Given the description of an element on the screen output the (x, y) to click on. 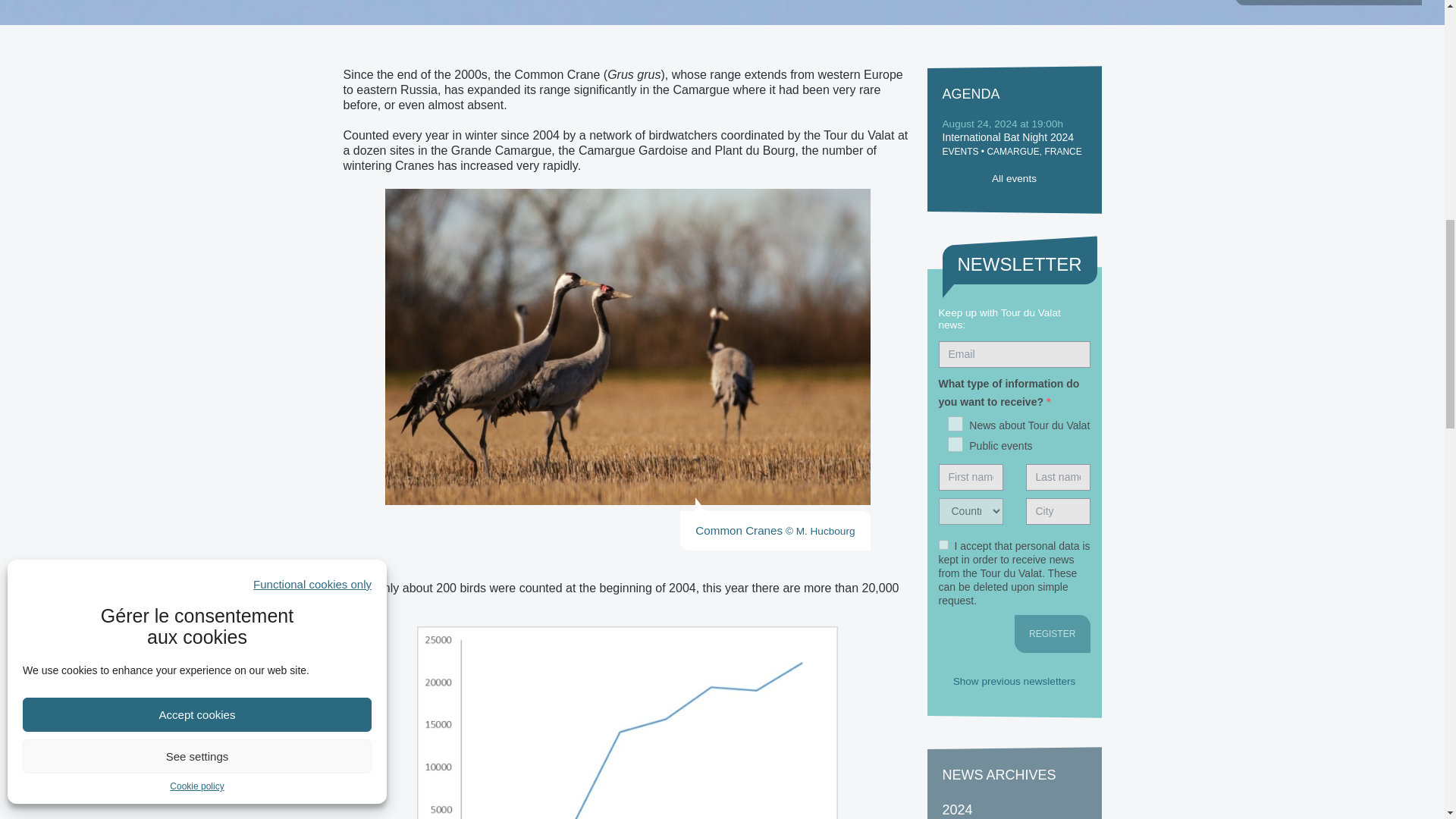
Required (1047, 401)
News about Tour du Valat (954, 423)
Public events (954, 444)
Show previous newsletters (1014, 681)
